Given the description of an element on the screen output the (x, y) to click on. 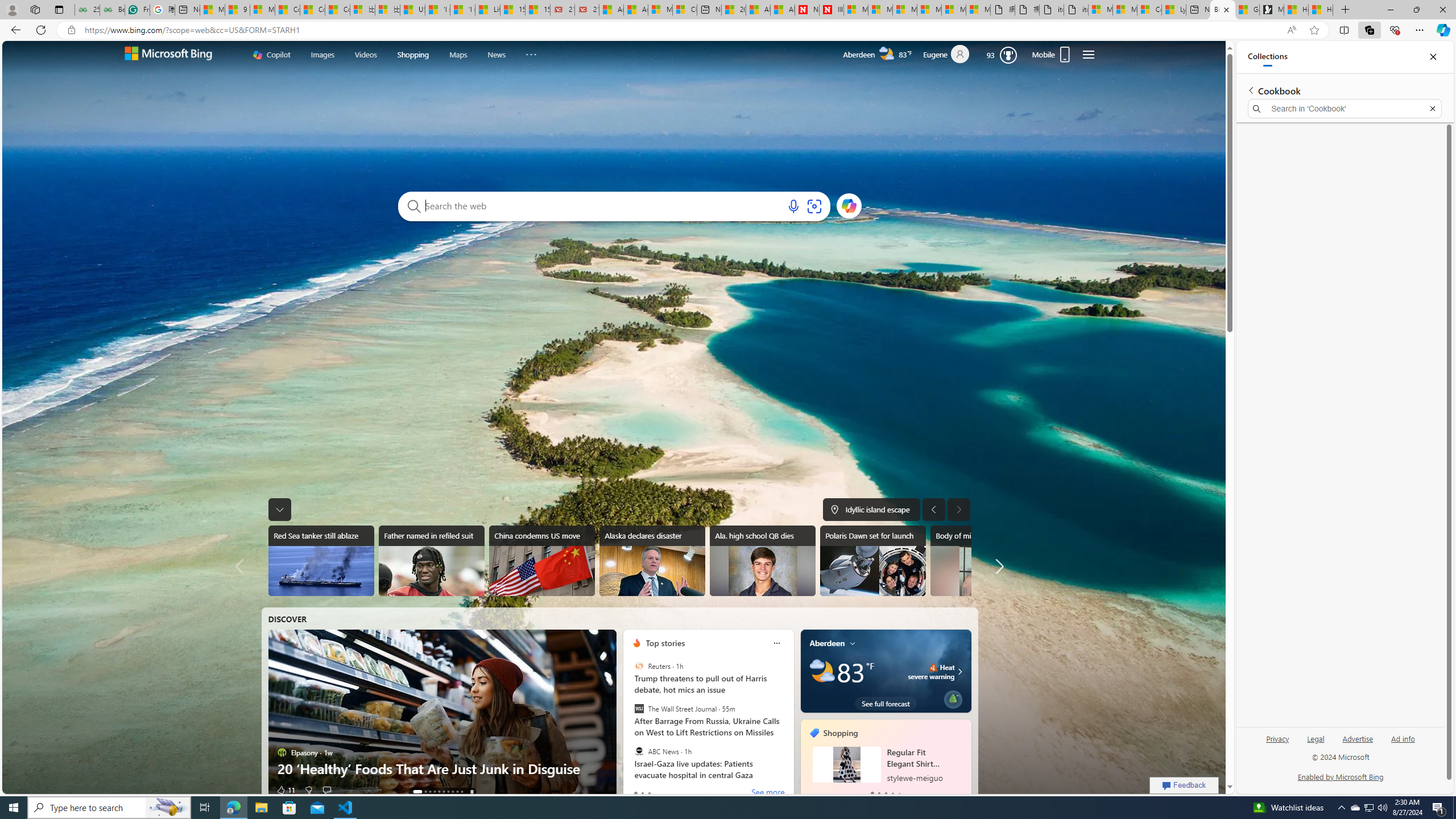
Reuters (638, 665)
Class: medal-circled (1007, 54)
Class: scopes  (404, 53)
Lifestyle - MSN (487, 9)
